Given the description of an element on the screen output the (x, y) to click on. 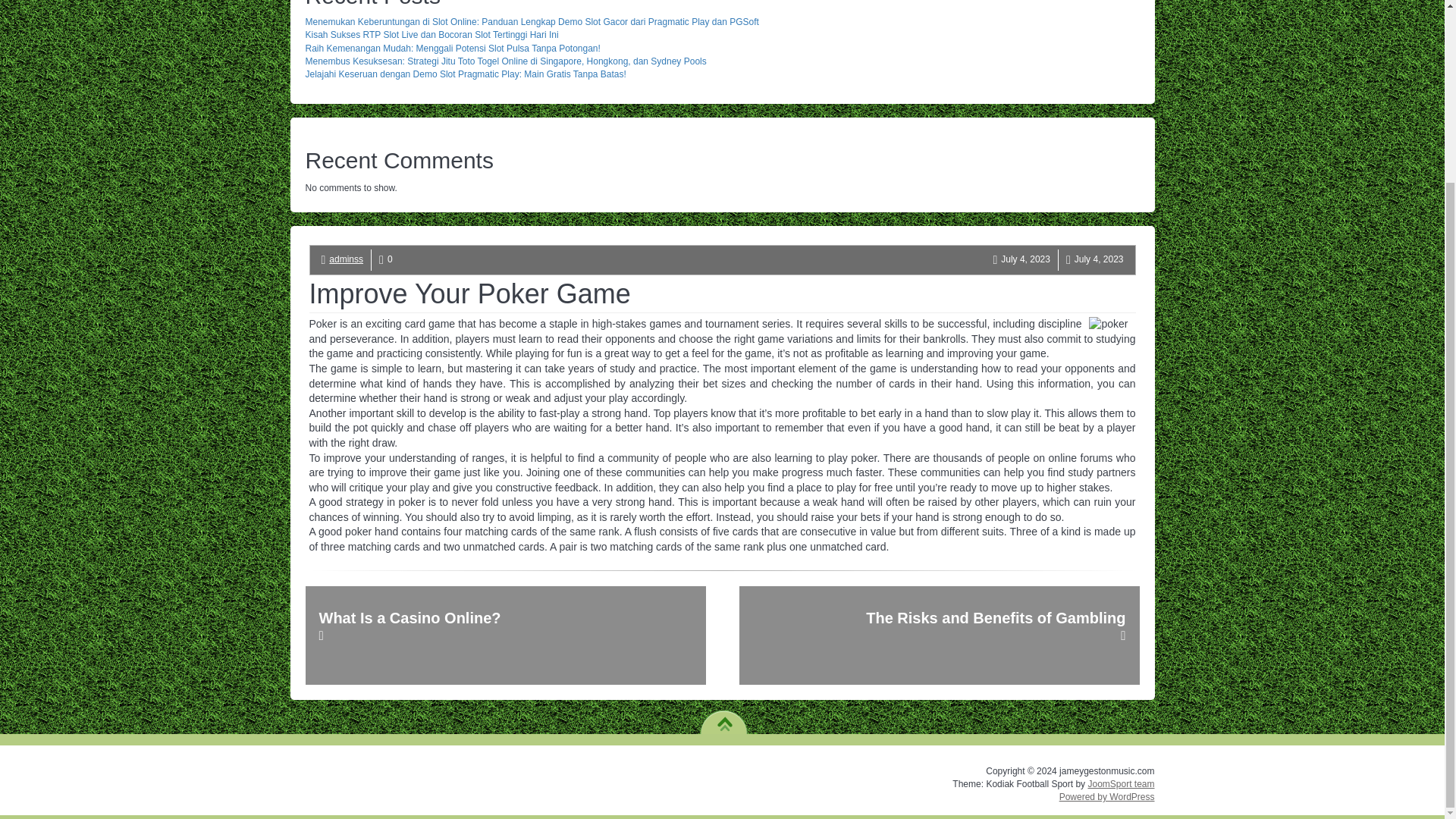
Powered by WordPress (1106, 796)
adminss (345, 258)
 The Best WordPress Sport Plugin for your league and club  (1120, 783)
JoomSport team (1120, 783)
TO TOP (723, 718)
